Given the description of an element on the screen output the (x, y) to click on. 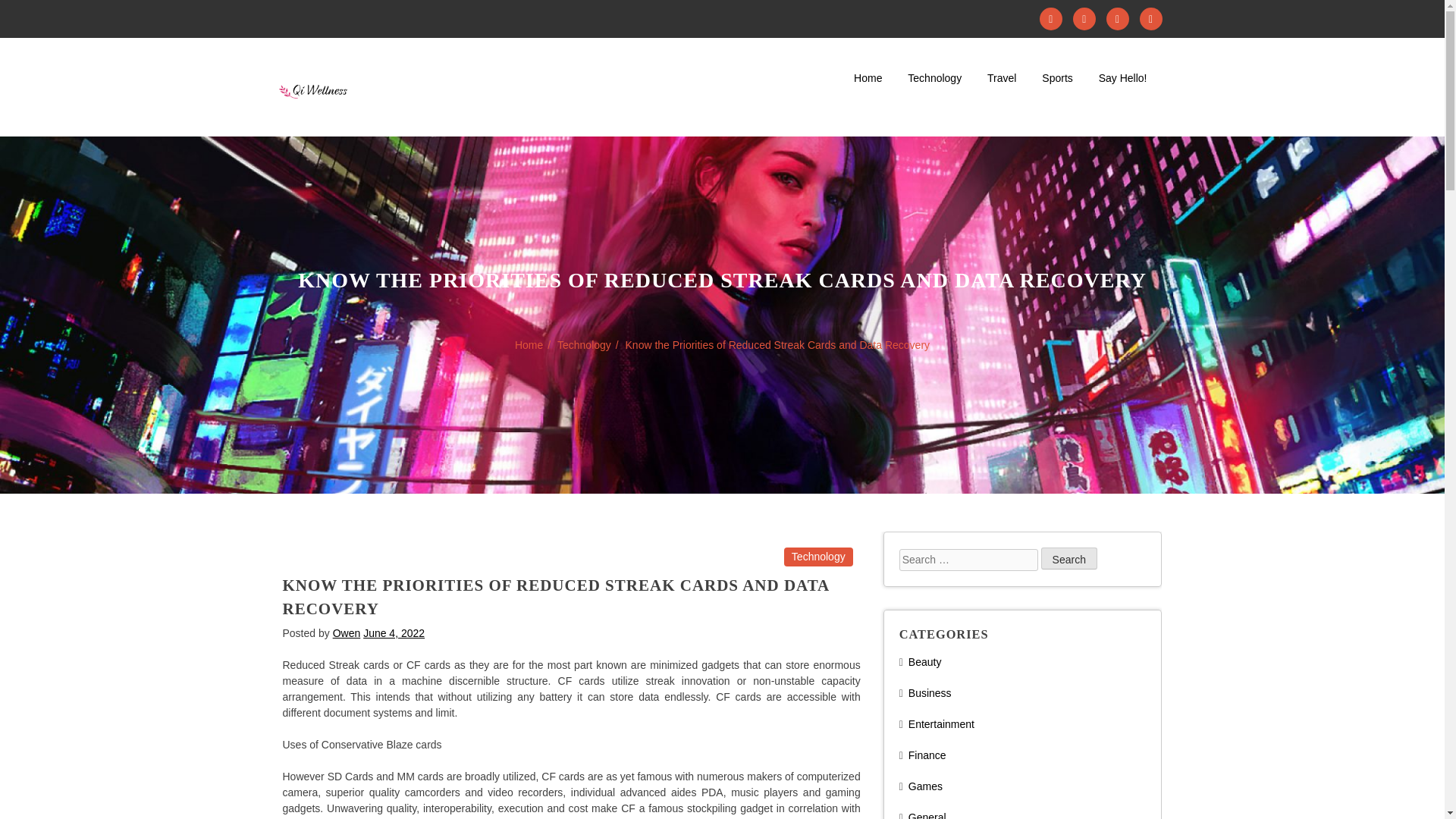
Search (1069, 558)
Home (867, 78)
Finance (927, 755)
Games (925, 786)
Search (1069, 558)
General (927, 815)
Sports (1056, 78)
Search (1069, 558)
Twitter (1084, 18)
Travel (1002, 78)
Facebook (1050, 18)
Beauty (925, 662)
Owen (347, 632)
Pinterest (1149, 18)
Technology (818, 556)
